Given the description of an element on the screen output the (x, y) to click on. 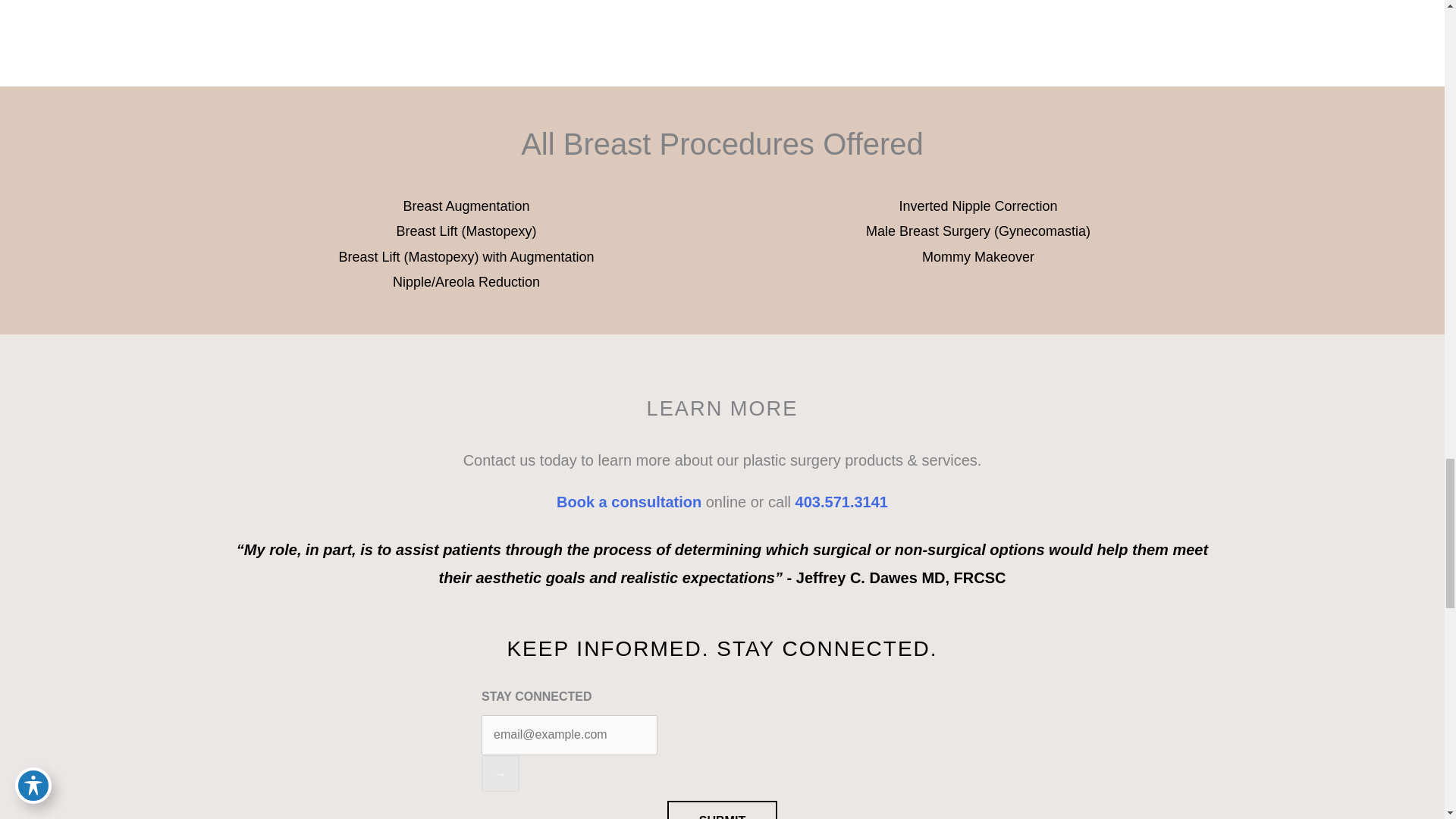
Submit (721, 809)
Click Here (381, 3)
